Given the description of an element on the screen output the (x, y) to click on. 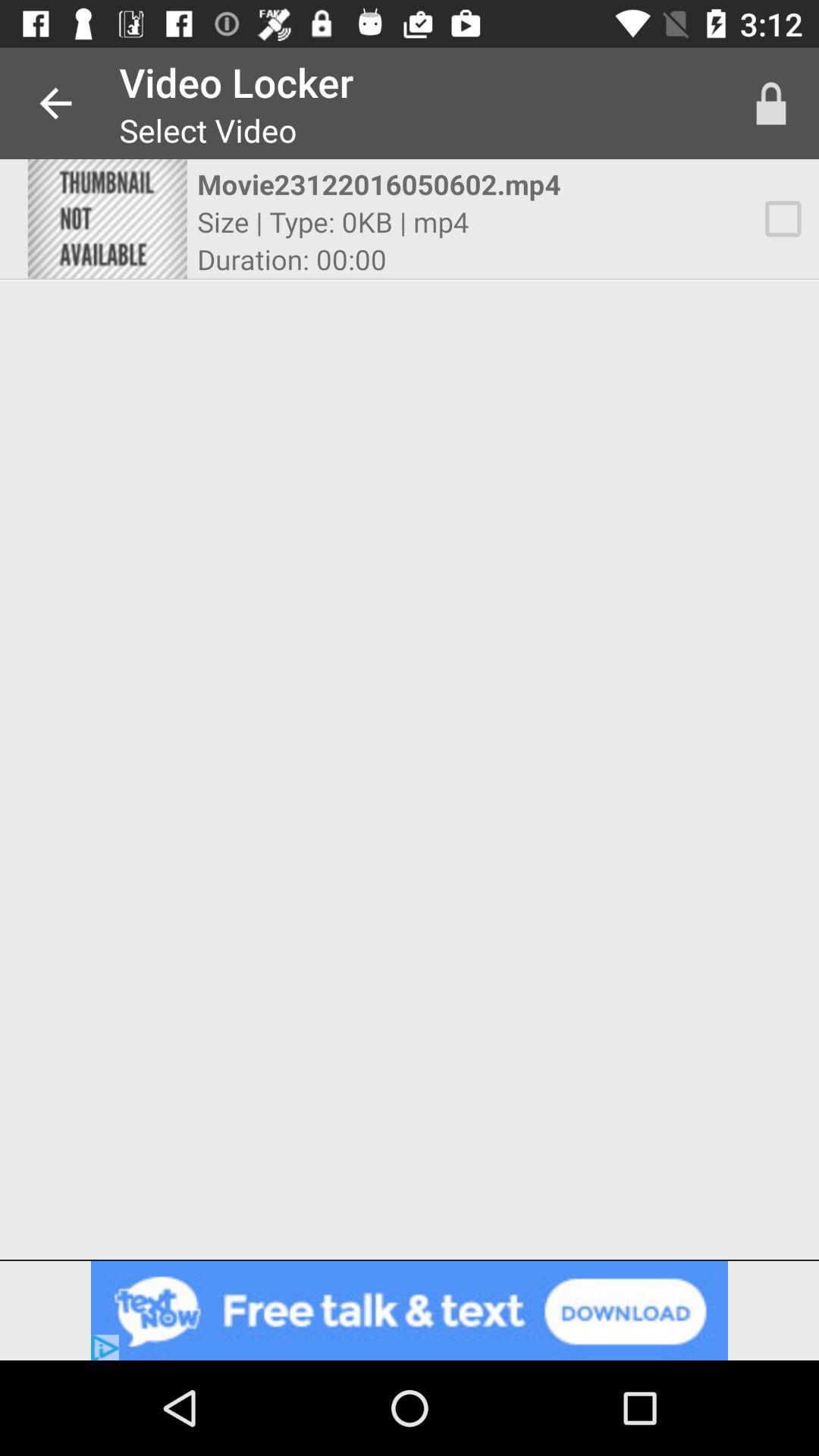
select the item above duration: 00:00 icon (333, 221)
